Given the description of an element on the screen output the (x, y) to click on. 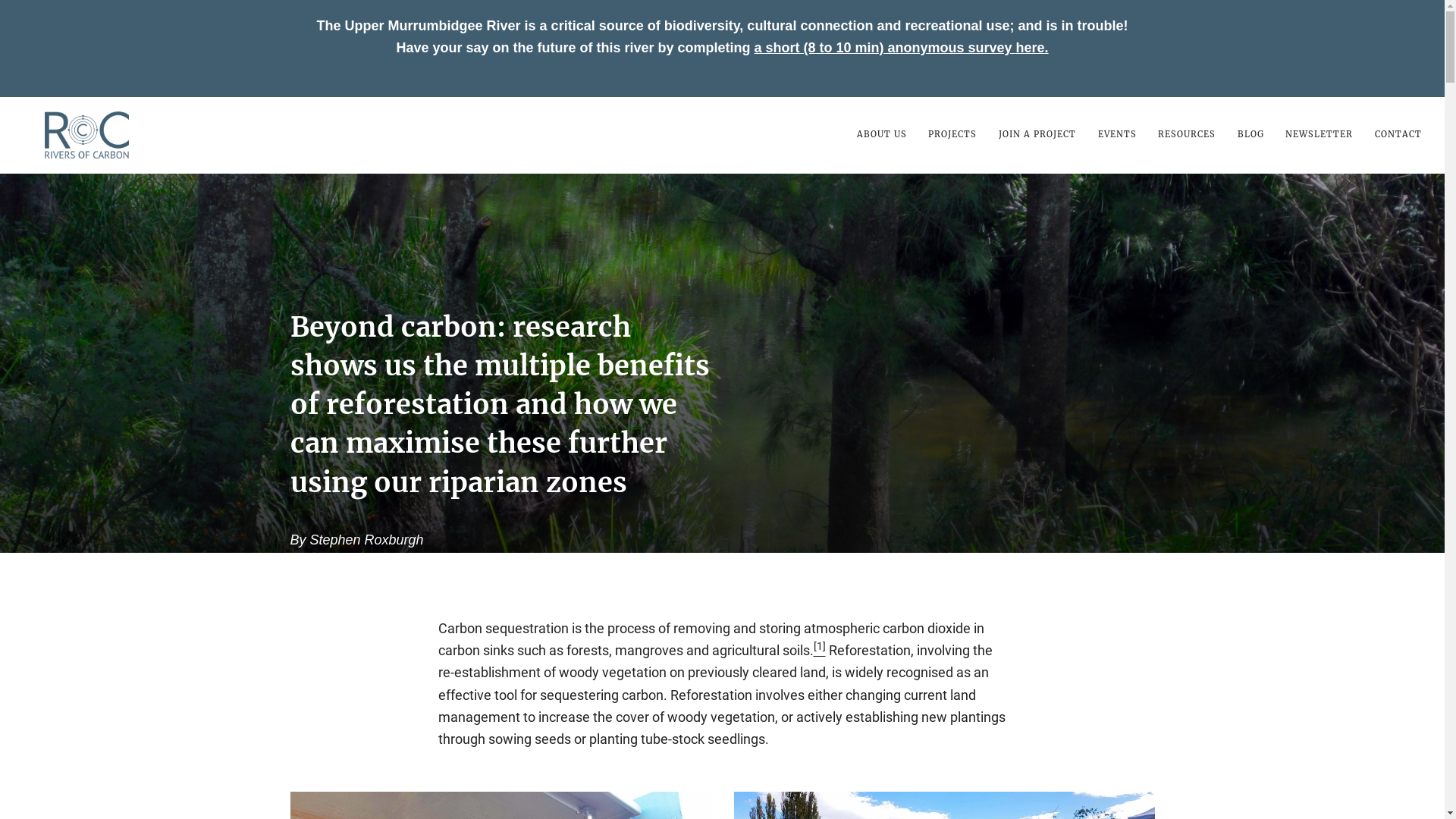
ABOUT US Element type: text (886, 134)
NEWSLETTER Element type: text (1319, 134)
[1] Element type: text (818, 650)
RESOURCES Element type: text (1186, 134)
EVENTS Element type: text (1116, 134)
a short (8 to 10 min) anonymous survey here. Element type: text (900, 47)
PROJECTS Element type: text (952, 134)
CONTACT Element type: text (1392, 134)
BLOG Element type: text (1250, 134)
JOIN A PROJECT Element type: text (1037, 134)
